Given the description of an element on the screen output the (x, y) to click on. 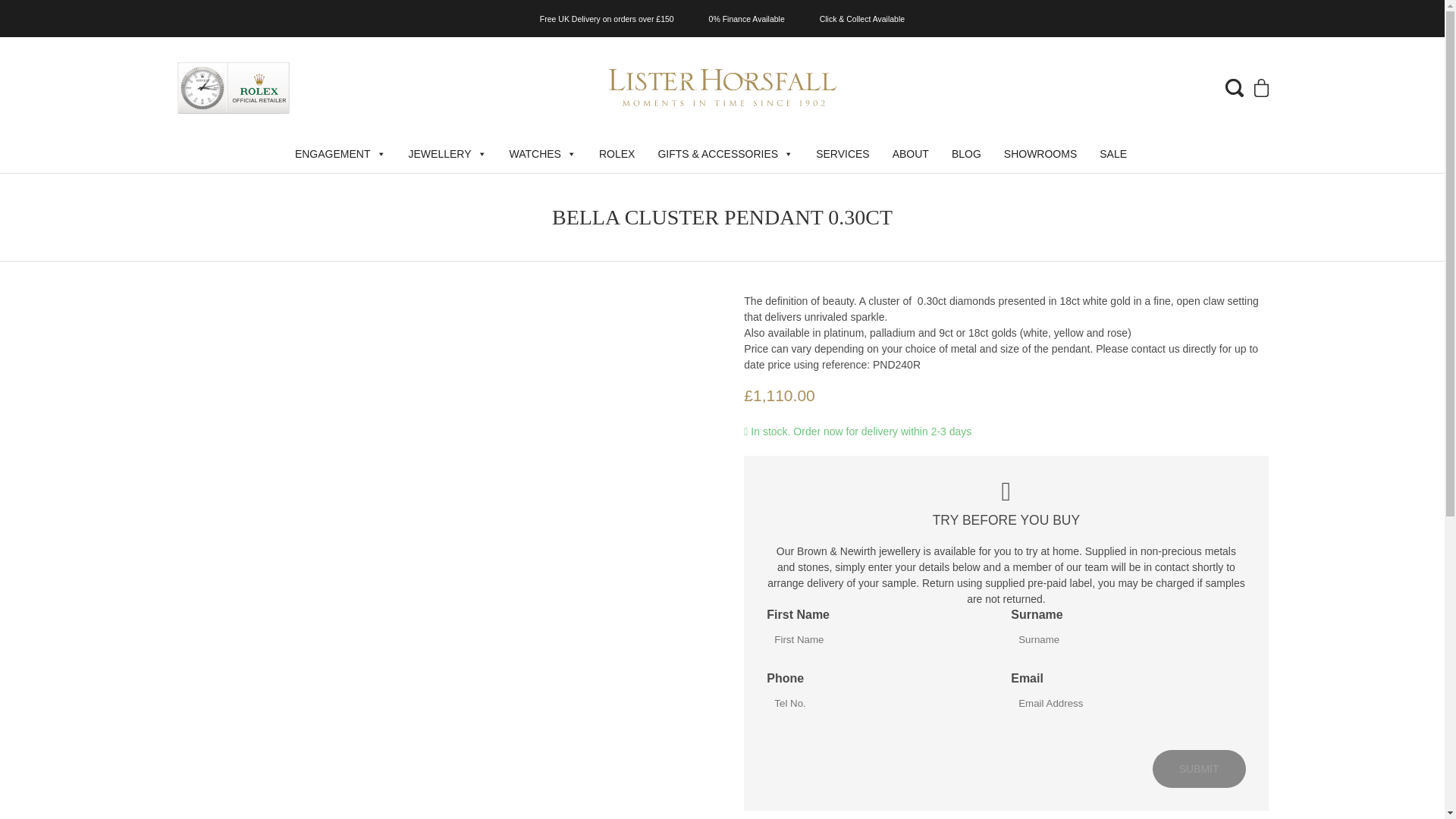
JEWELLERY (446, 153)
Rolex Official Retailer (232, 86)
WATCHES (542, 153)
Submit (1199, 768)
ENGAGEMENT (340, 153)
